Given the description of an element on the screen output the (x, y) to click on. 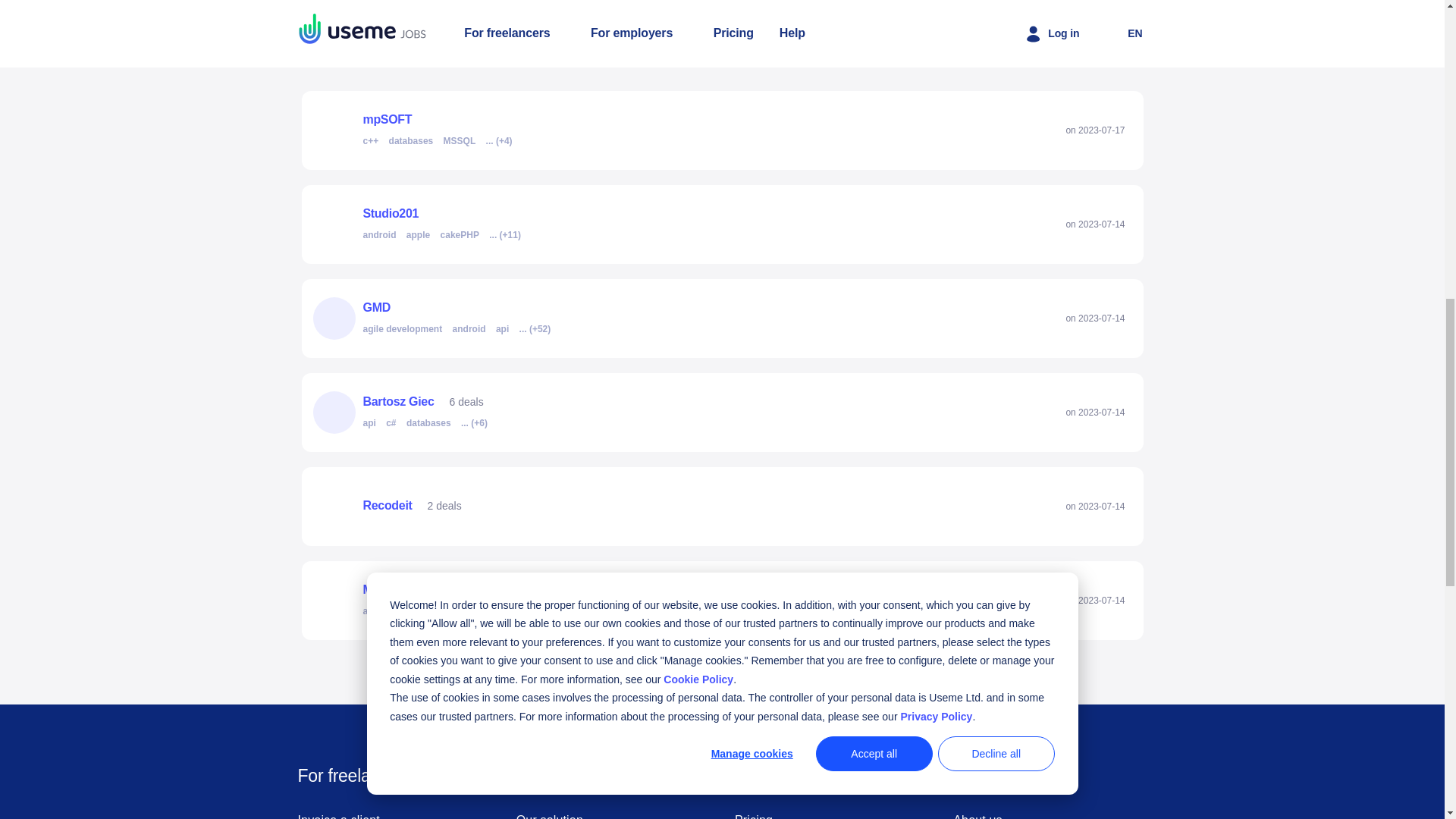
Freelancer profile Bartosz Giec (464, 412)
Freelancer profile Studio201 (448, 224)
Freelancer profile GMD (449, 318)
Freelancer profile Recodeit (387, 506)
Freelancer profile mpSOFT (441, 129)
Freelancer profile Modern-IT - programowanie (507, 600)
